Given the description of an element on the screen output the (x, y) to click on. 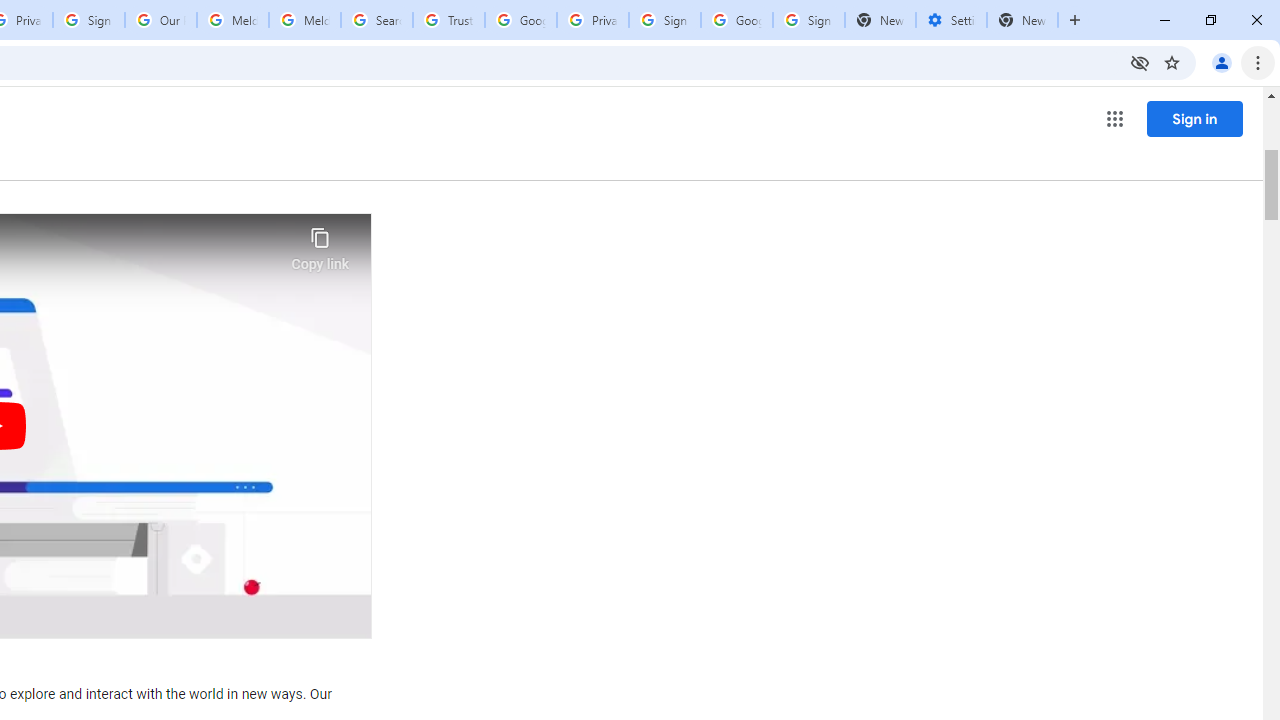
Sign in - Google Accounts (808, 20)
Sign in - Google Accounts (664, 20)
Google Ads - Sign in (520, 20)
Settings - Addresses and more (951, 20)
Trusted Information and Content - Google Safety Center (449, 20)
